Given the description of an element on the screen output the (x, y) to click on. 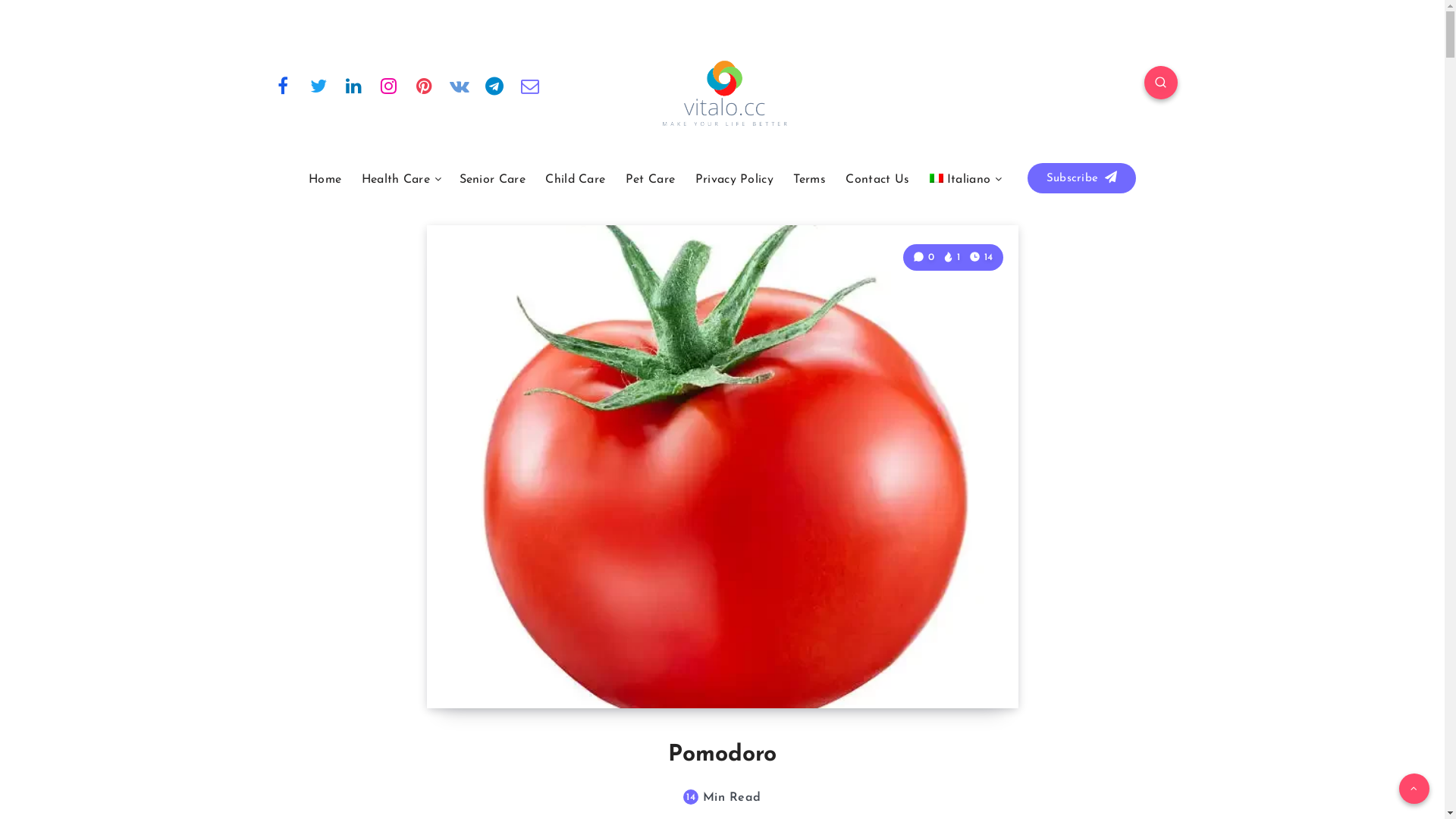
Italiano Element type: text (959, 179)
Subscribe Element type: text (1081, 178)
Senior Care Element type: text (492, 179)
Terms Element type: text (809, 179)
0 Element type: text (925, 257)
Health Care Element type: text (395, 179)
Home Element type: text (324, 179)
Privacy Policy Element type: text (734, 179)
Pet Care Element type: text (649, 179)
Child Care Element type: text (575, 179)
Contact Us Element type: text (877, 179)
